Given the description of an element on the screen output the (x, y) to click on. 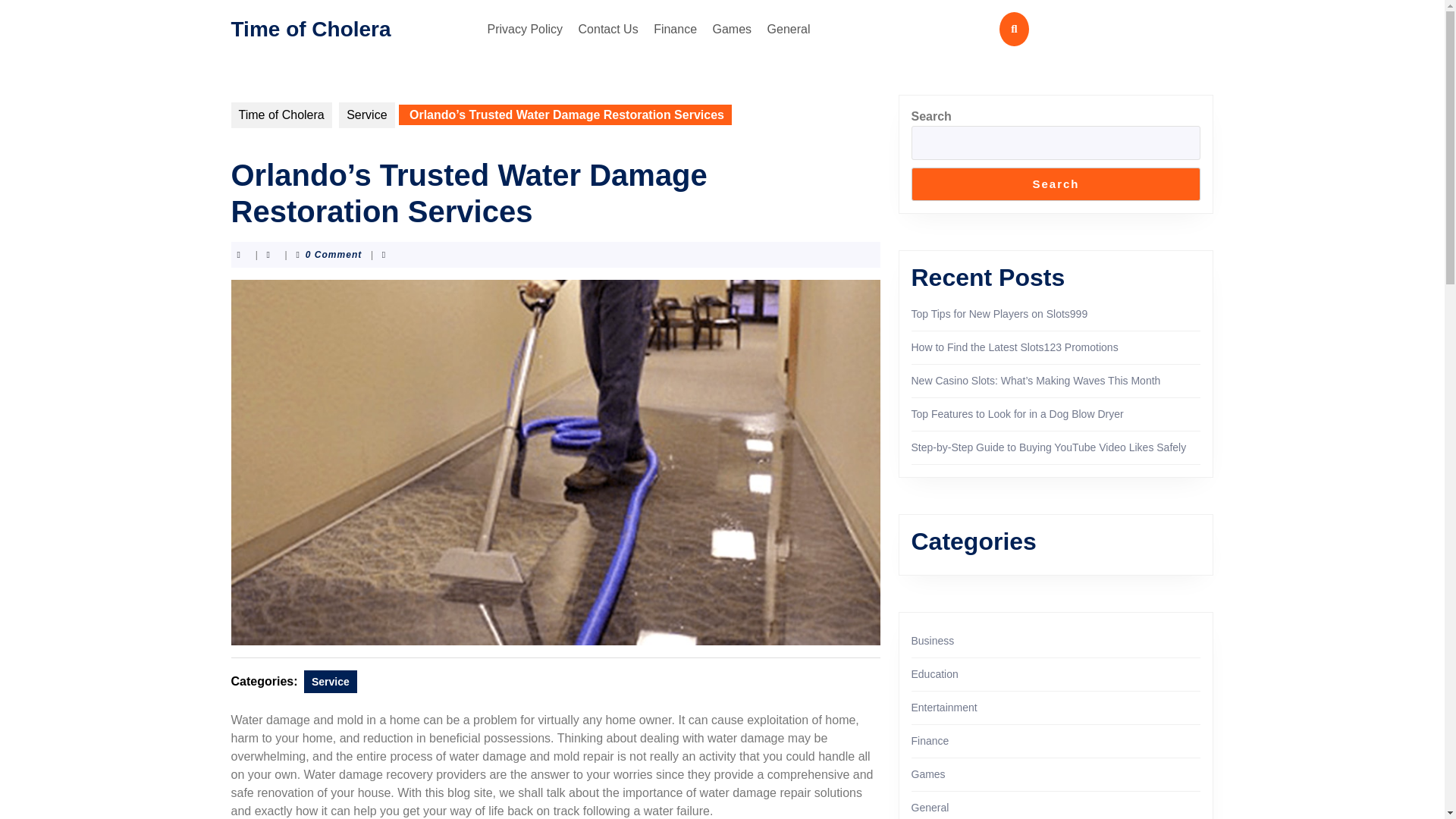
Search (1056, 183)
Top Tips for New Players on Slots999 (999, 313)
Step-by-Step Guide to Buying YouTube Video Likes Safely (1048, 447)
Privacy Policy (524, 28)
Service (366, 114)
Top Features to Look for in a Dog Blow Dryer (1017, 413)
General (788, 28)
How to Find the Latest Slots123 Promotions (1014, 346)
Time of Cholera (310, 28)
Contact Us (608, 28)
Time of Cholera (280, 114)
Games (732, 28)
Finance (675, 28)
Service (330, 681)
